Given the description of an element on the screen output the (x, y) to click on. 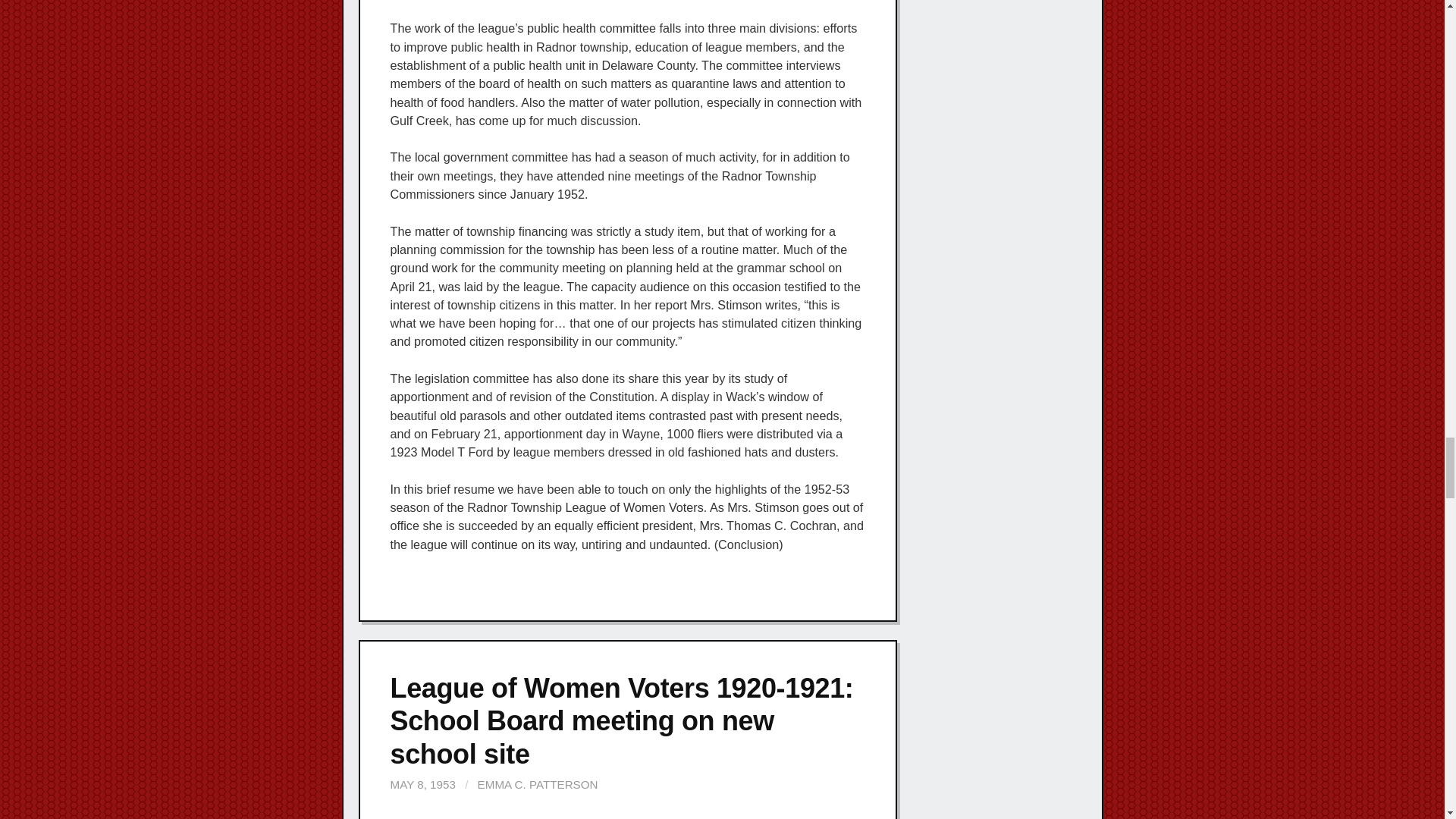
MAY 8, 1953 (422, 784)
EMMA C. PATTERSON (537, 784)
